Given the description of an element on the screen output the (x, y) to click on. 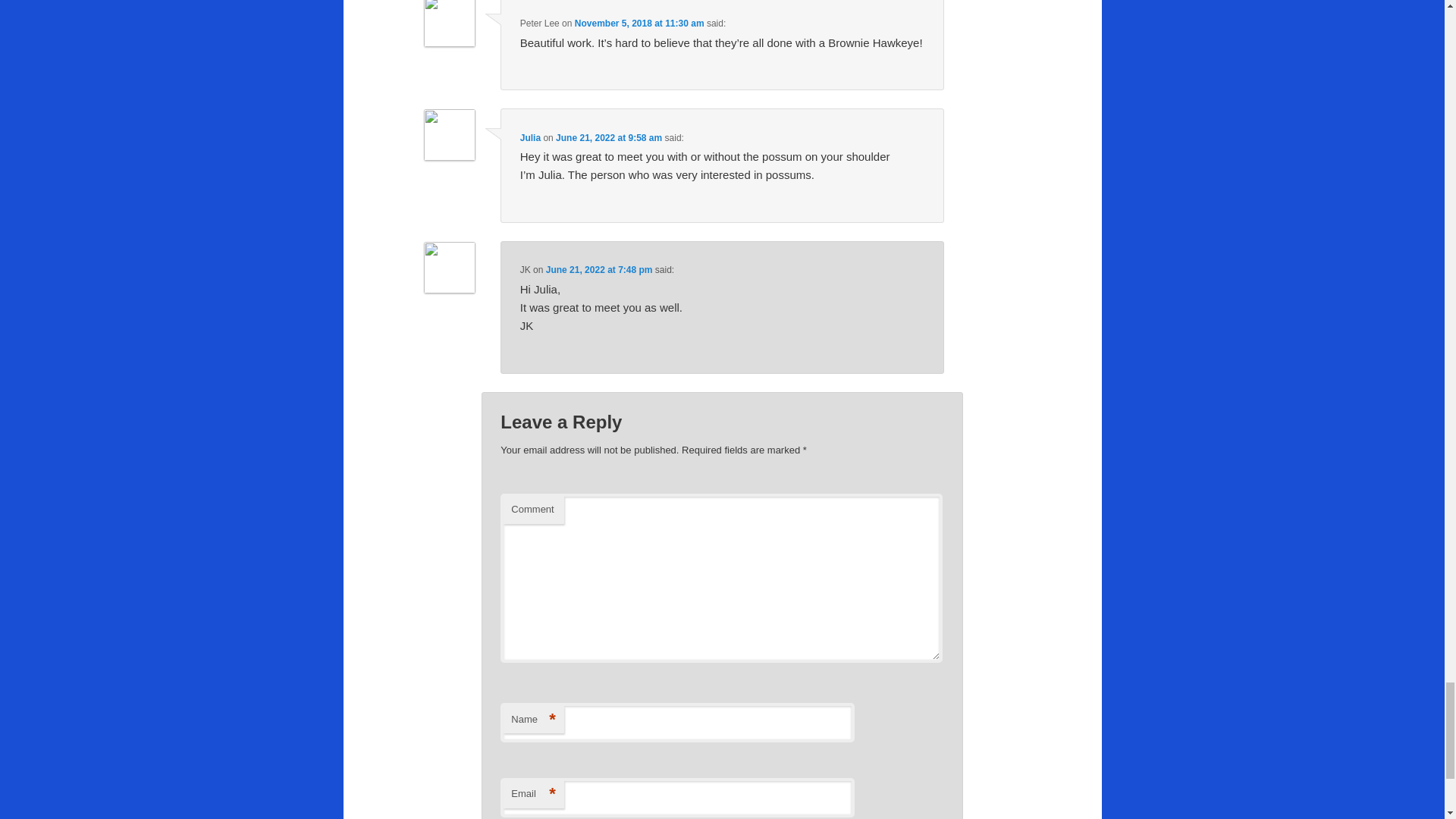
June 21, 2022 at 7:48 pm (599, 269)
November 5, 2018 at 11:30 am (639, 23)
Julia (529, 137)
June 21, 2022 at 9:58 am (609, 137)
